Given the description of an element on the screen output the (x, y) to click on. 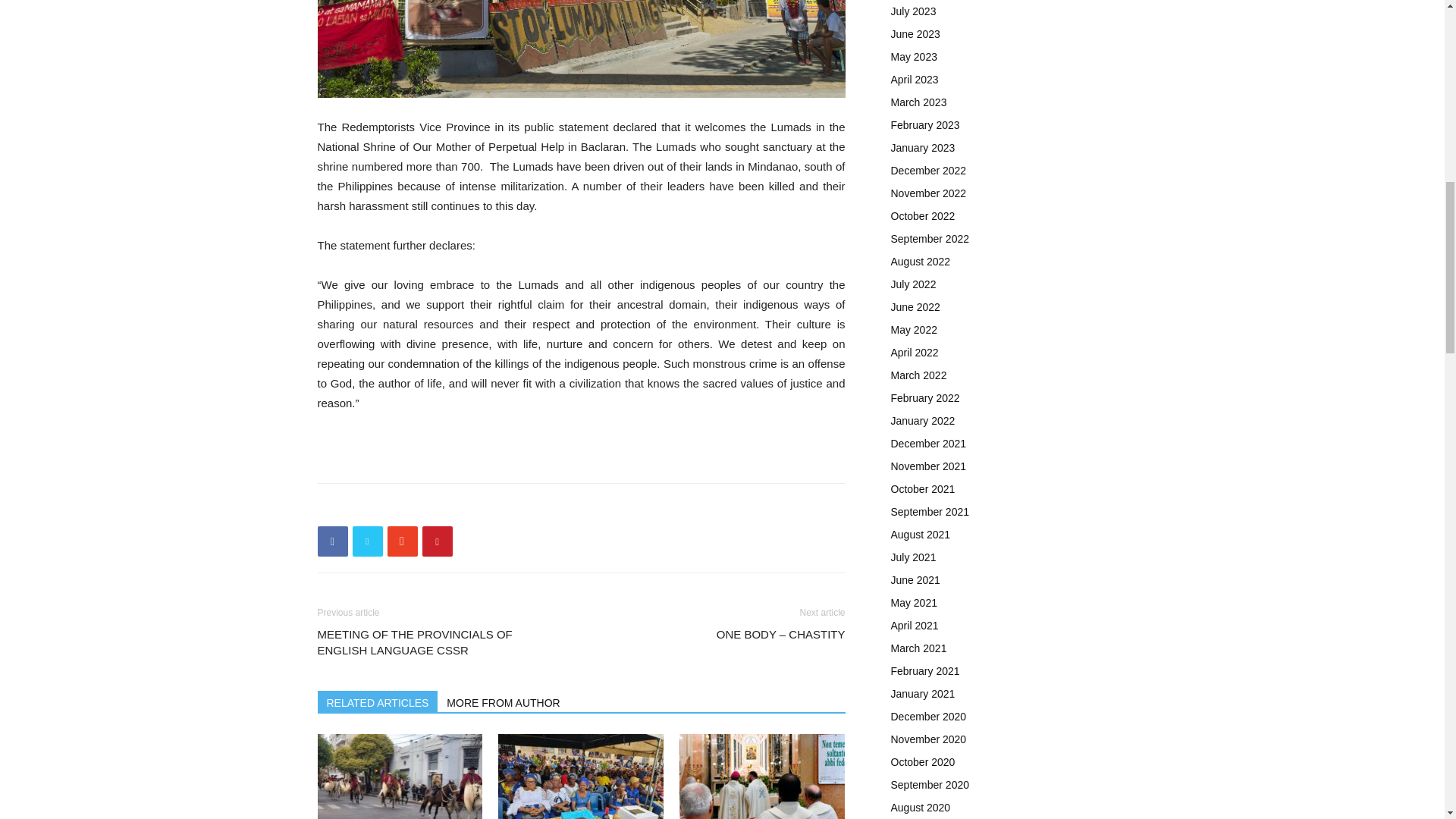
Philippines (580, 48)
Feast of the Mother of Perpetual Help in Salta, Argentina (399, 776)
